Given the description of an element on the screen output the (x, y) to click on. 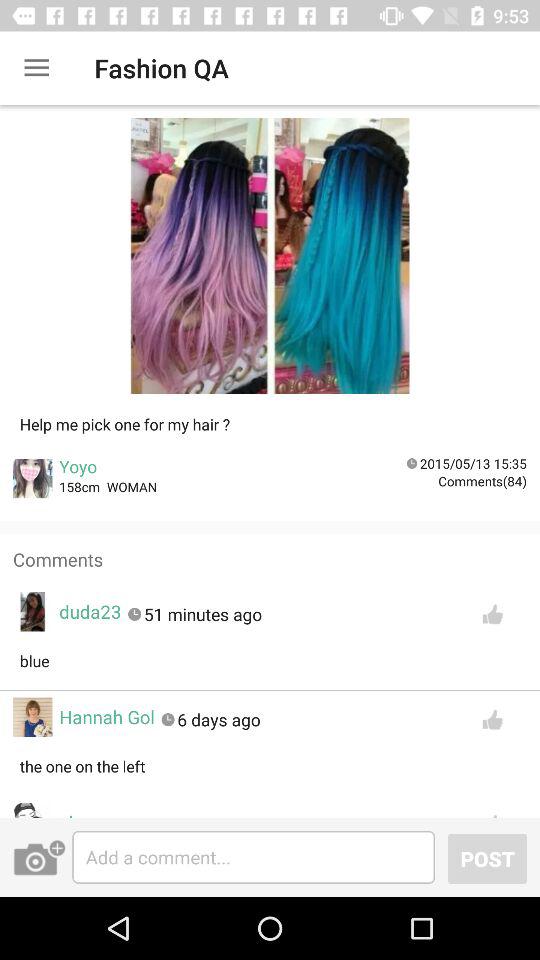
view image (269, 262)
